Given the description of an element on the screen output the (x, y) to click on. 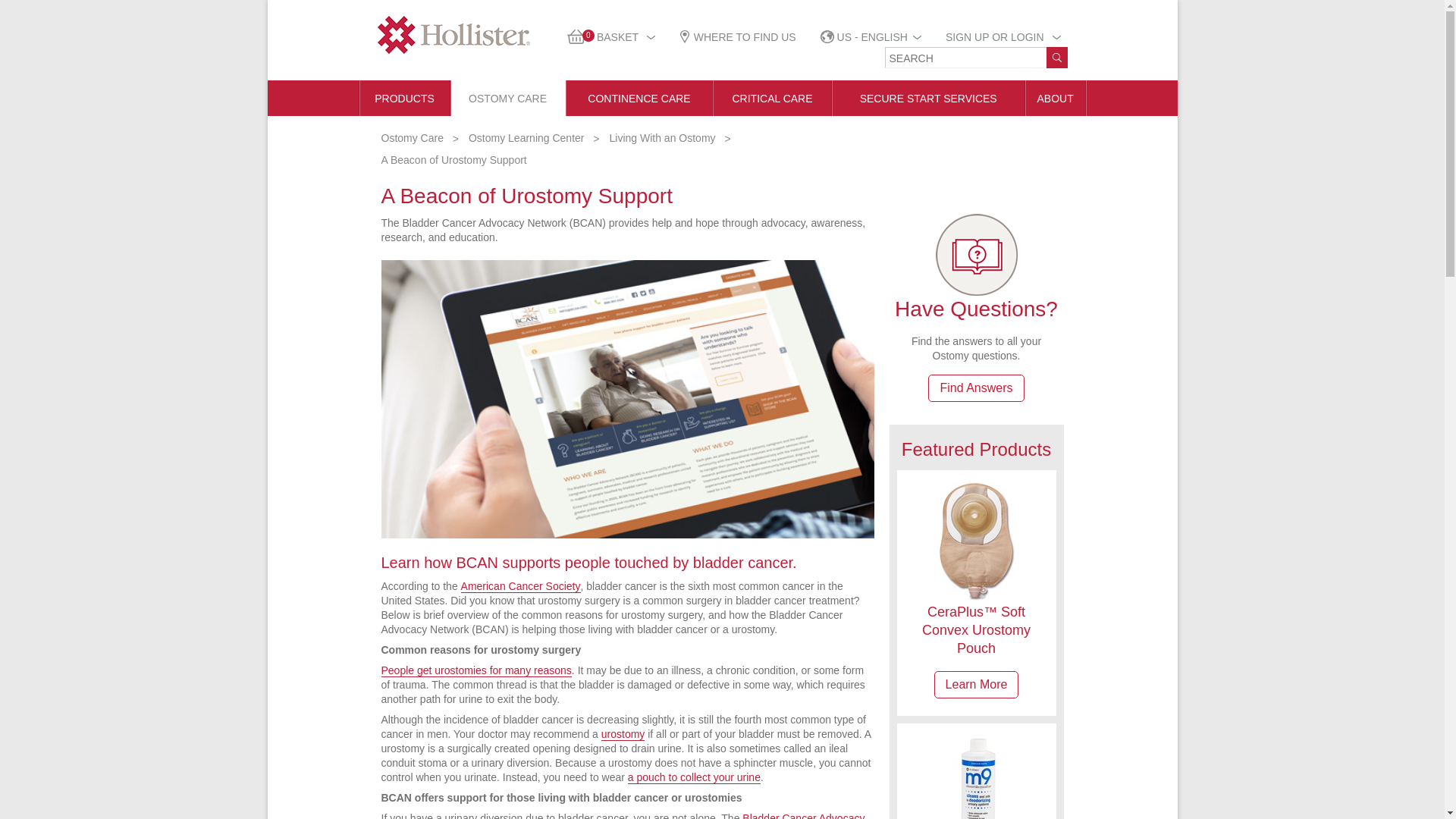
search (1056, 56)
US - ENGLISH (870, 36)
SIGN UP OR LOGIN (610, 36)
PRODUCTS (1003, 36)
WHERE TO FIND US (404, 98)
